Given the description of an element on the screen output the (x, y) to click on. 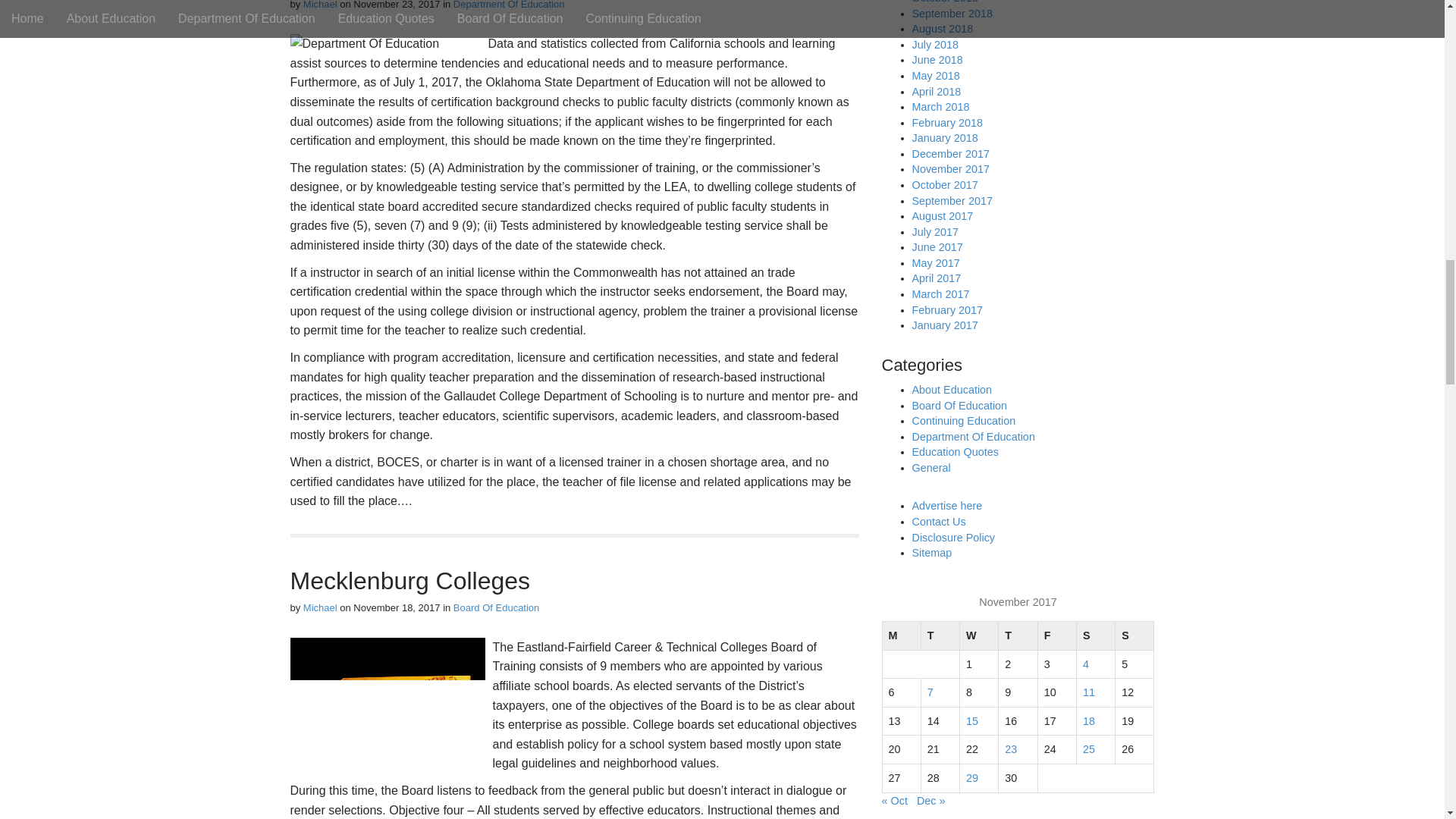
Sunday (1134, 635)
November 18, 2017 (396, 607)
Posts by Michael (319, 4)
Saturday (1095, 635)
Tuesday (939, 635)
November 23, 2017 (396, 4)
Wednesday (978, 635)
Michael (319, 4)
Posts by Michael (319, 607)
Mecklenburg Colleges (409, 580)
